Given the description of an element on the screen output the (x, y) to click on. 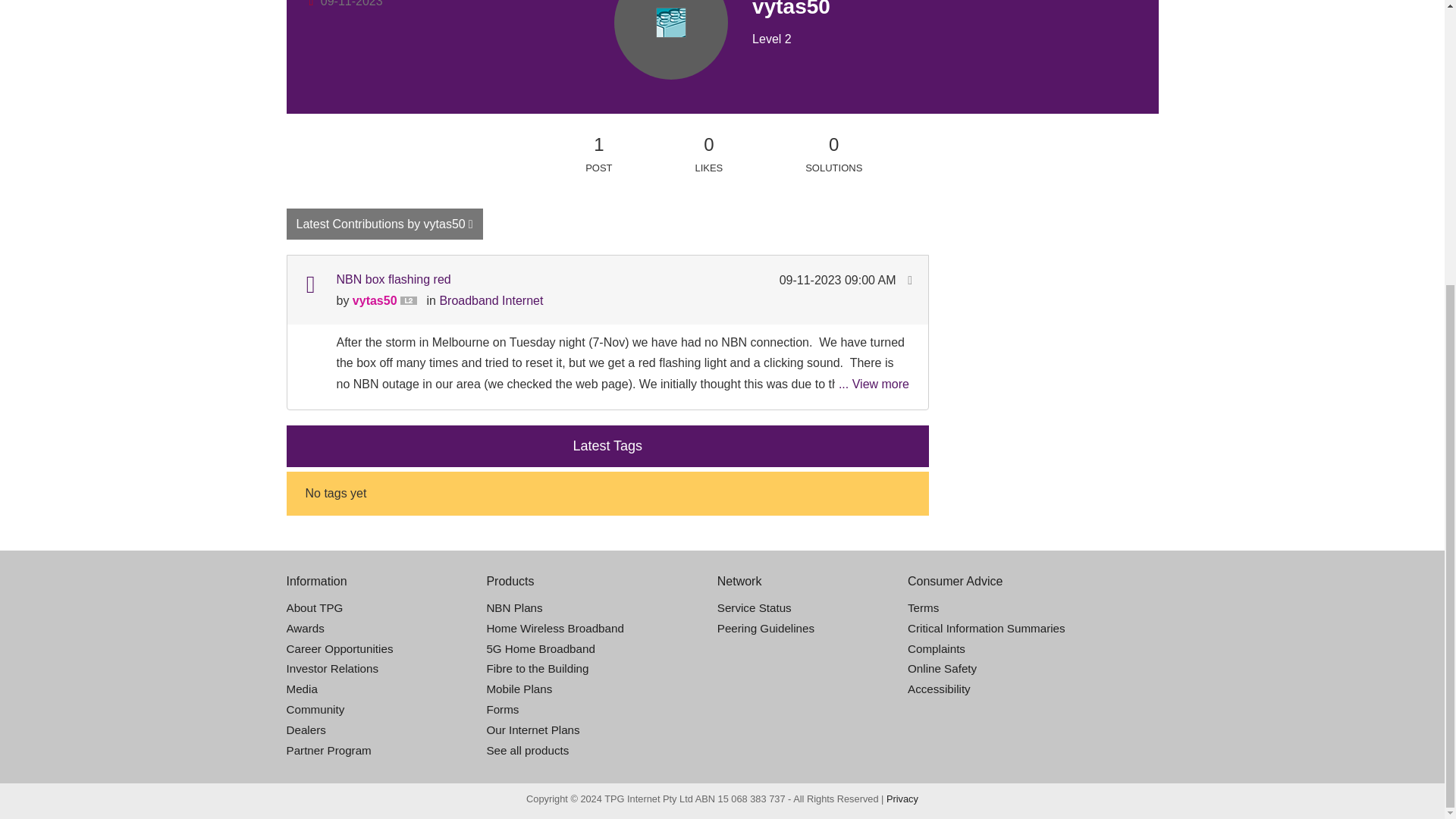
Posted on (838, 280)
Forum (309, 284)
vytas50 (670, 22)
Level 2 (411, 301)
Show option menu (384, 223)
